Given the description of an element on the screen output the (x, y) to click on. 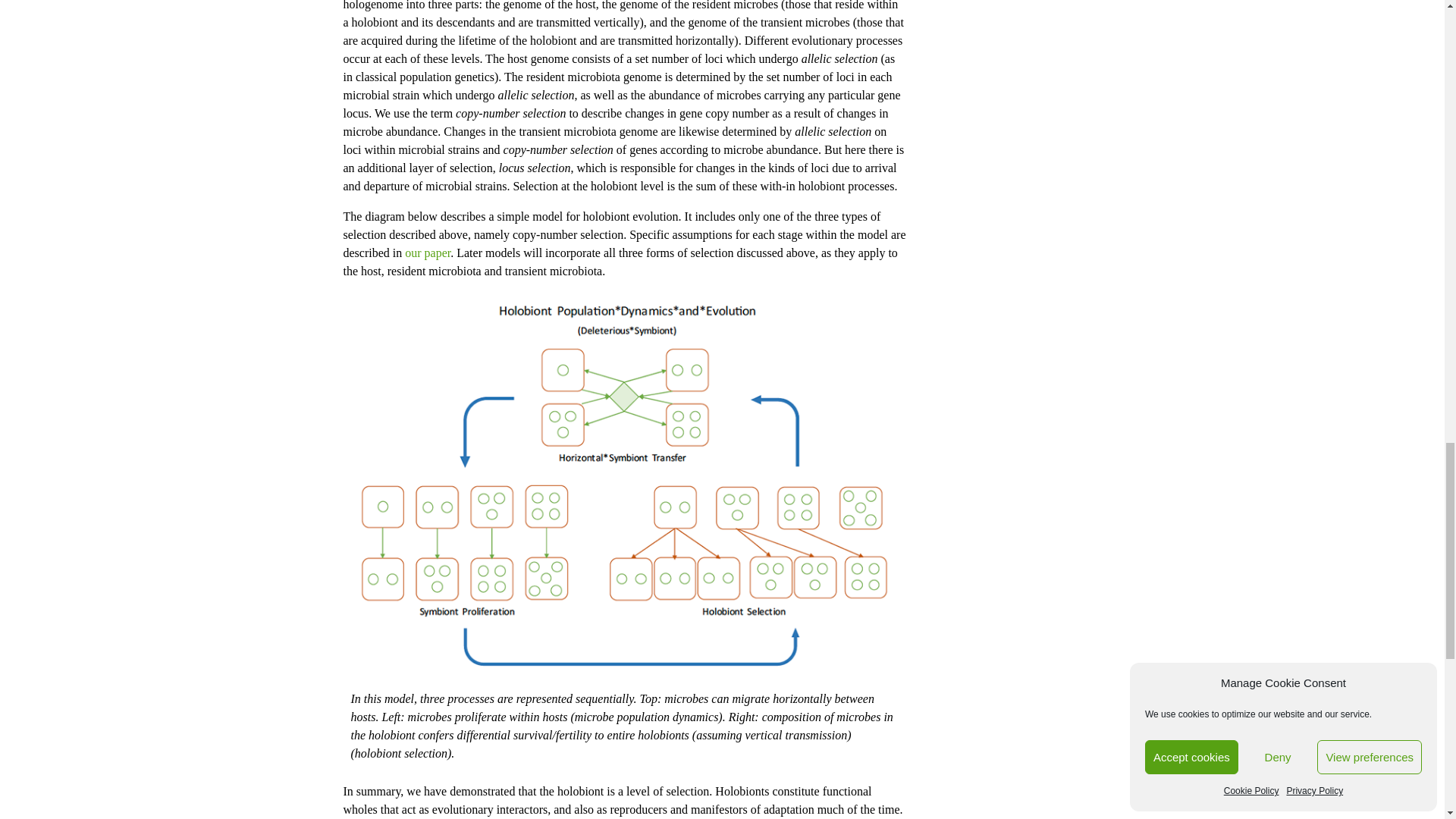
our paper (426, 252)
